Given the description of an element on the screen output the (x, y) to click on. 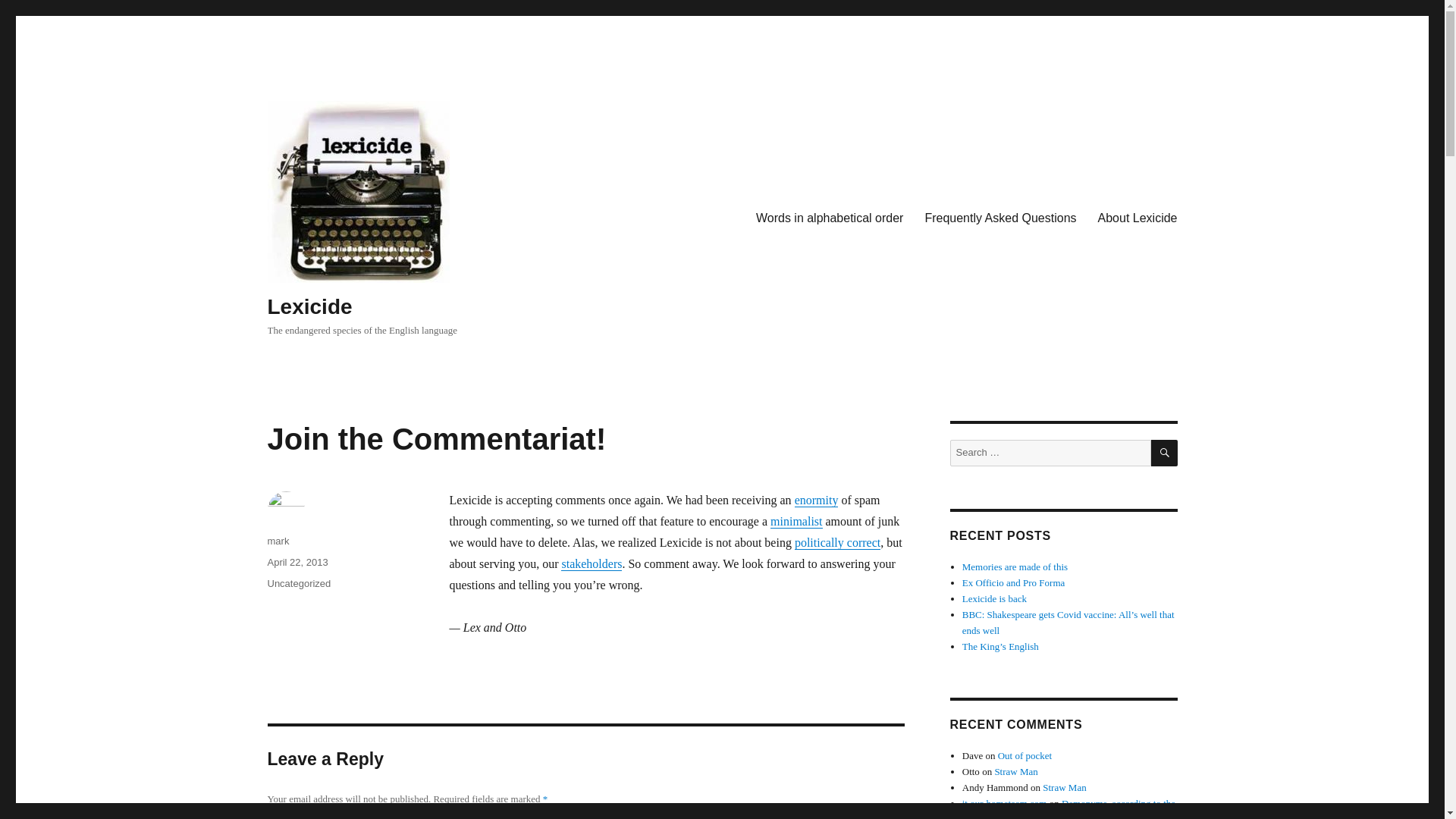
About Lexicide (1137, 218)
Frequently Asked Questions (1000, 218)
Words in alphabetical order (829, 218)
stakeholders (590, 563)
mark (277, 541)
Uncategorized (298, 583)
April 22, 2013 (296, 562)
Lexicide (309, 306)
minimalist (796, 521)
enormity (816, 499)
